Given the description of an element on the screen output the (x, y) to click on. 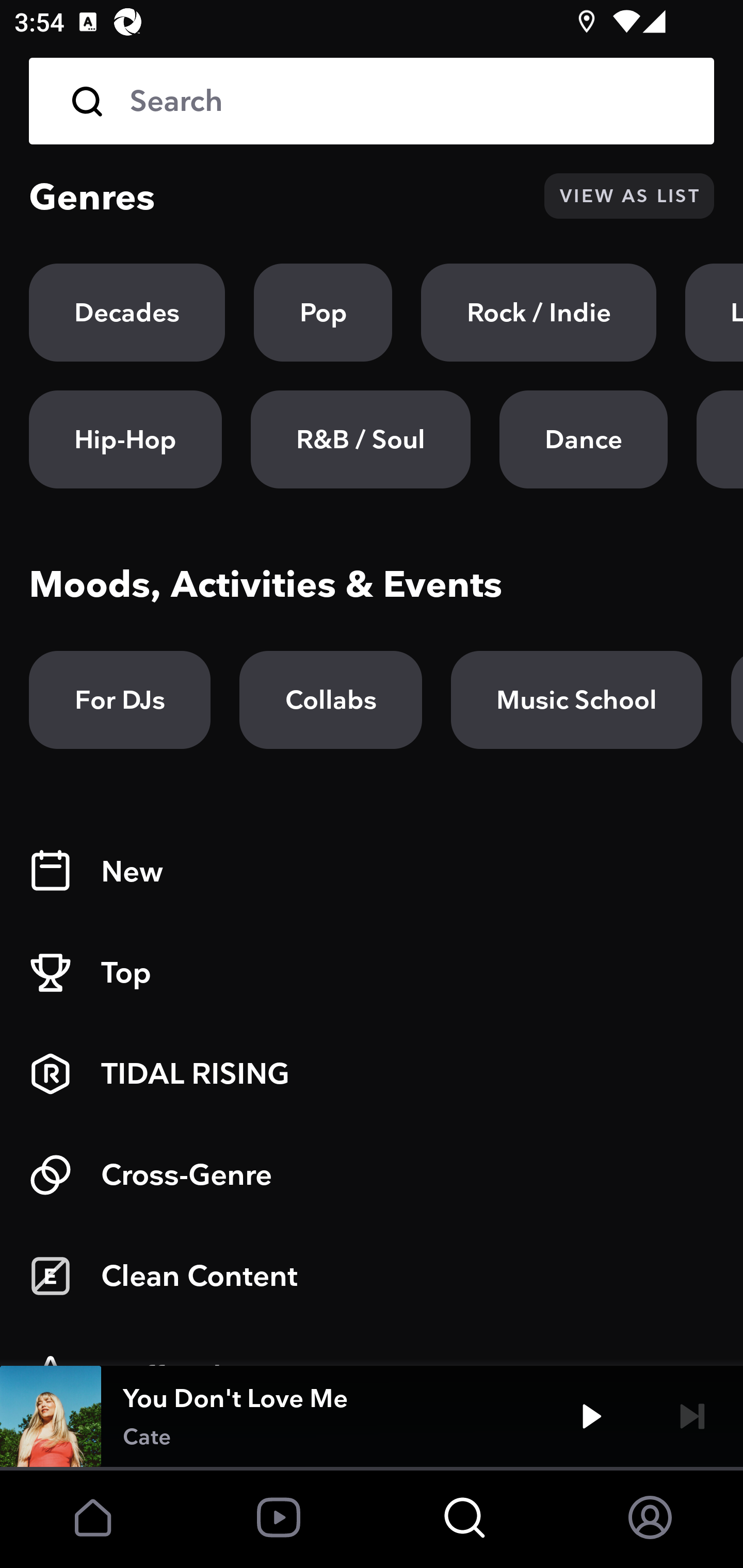
Search (371, 101)
Search (407, 100)
VIEW AS LIST (629, 195)
Decades (126, 312)
Pop (323, 312)
Rock / Indie (538, 312)
Hip-Hop (125, 439)
R&B / Soul (360, 439)
Dance (583, 439)
For DJs (119, 699)
Collabs (330, 699)
Music School (576, 699)
New (371, 871)
Top (371, 972)
TIDAL RISING (371, 1073)
Cross-Genre (371, 1175)
Clean Content (371, 1276)
You Don't Love Me Cate Play (371, 1416)
Play (590, 1416)
